Given the description of an element on the screen output the (x, y) to click on. 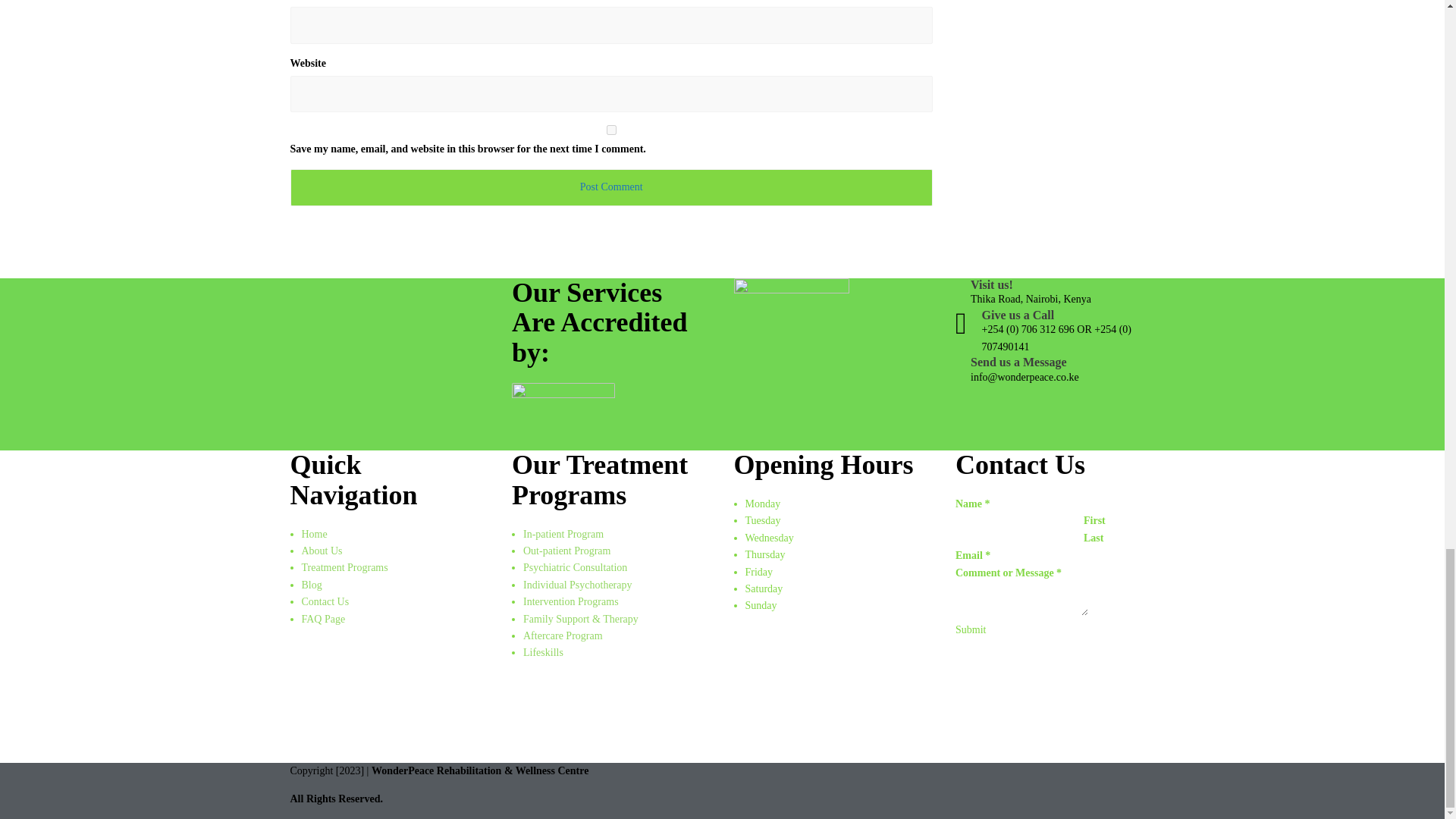
Post Comment (611, 186)
Home (314, 533)
Treatment Programs (344, 567)
Facebook Page Plugin (833, 697)
Our Services Are Accredited by (563, 416)
yes (611, 130)
Post Comment (611, 186)
About Us (321, 550)
